Given the description of an element on the screen output the (x, y) to click on. 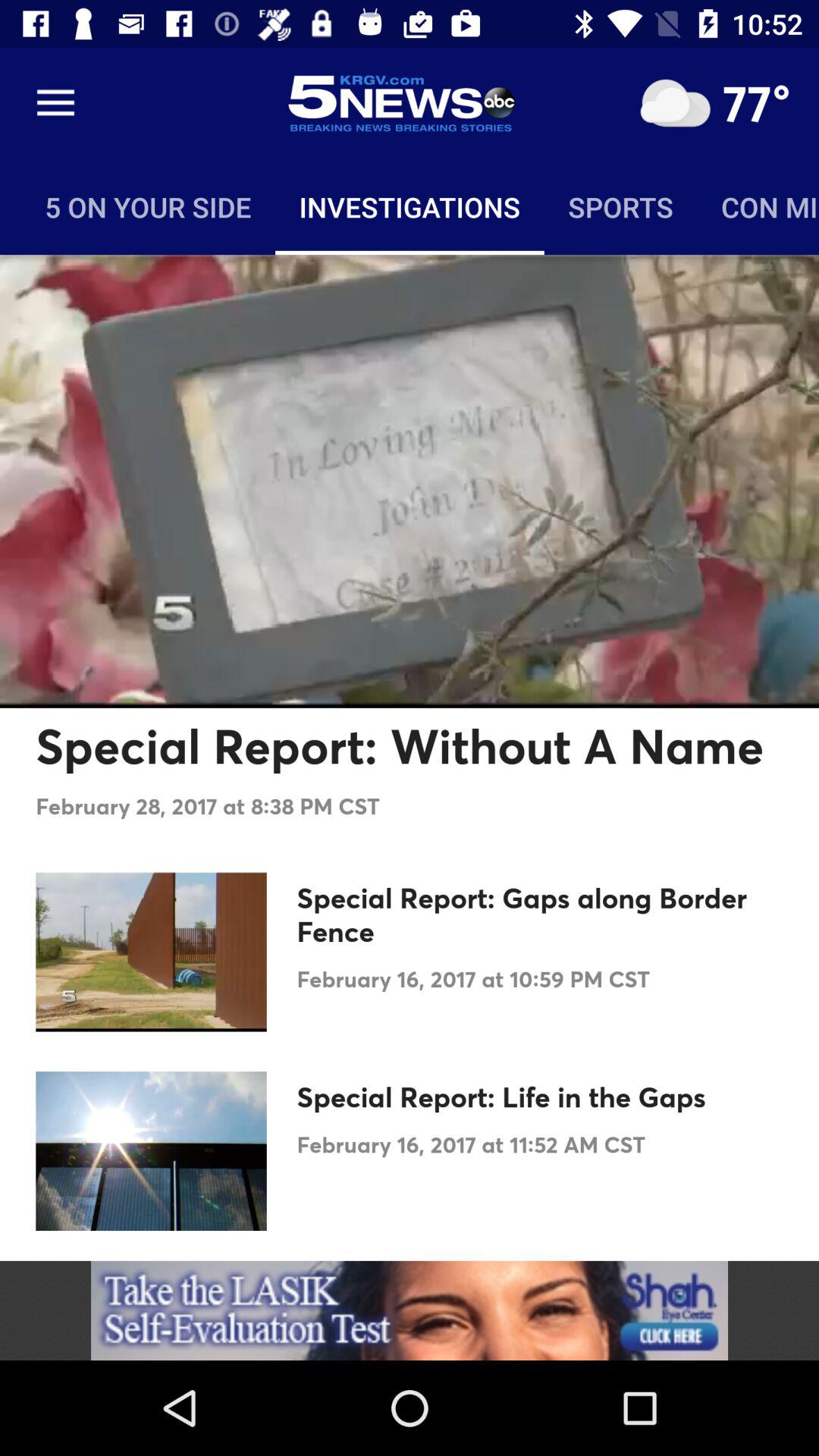
off (674, 103)
